Given the description of an element on the screen output the (x, y) to click on. 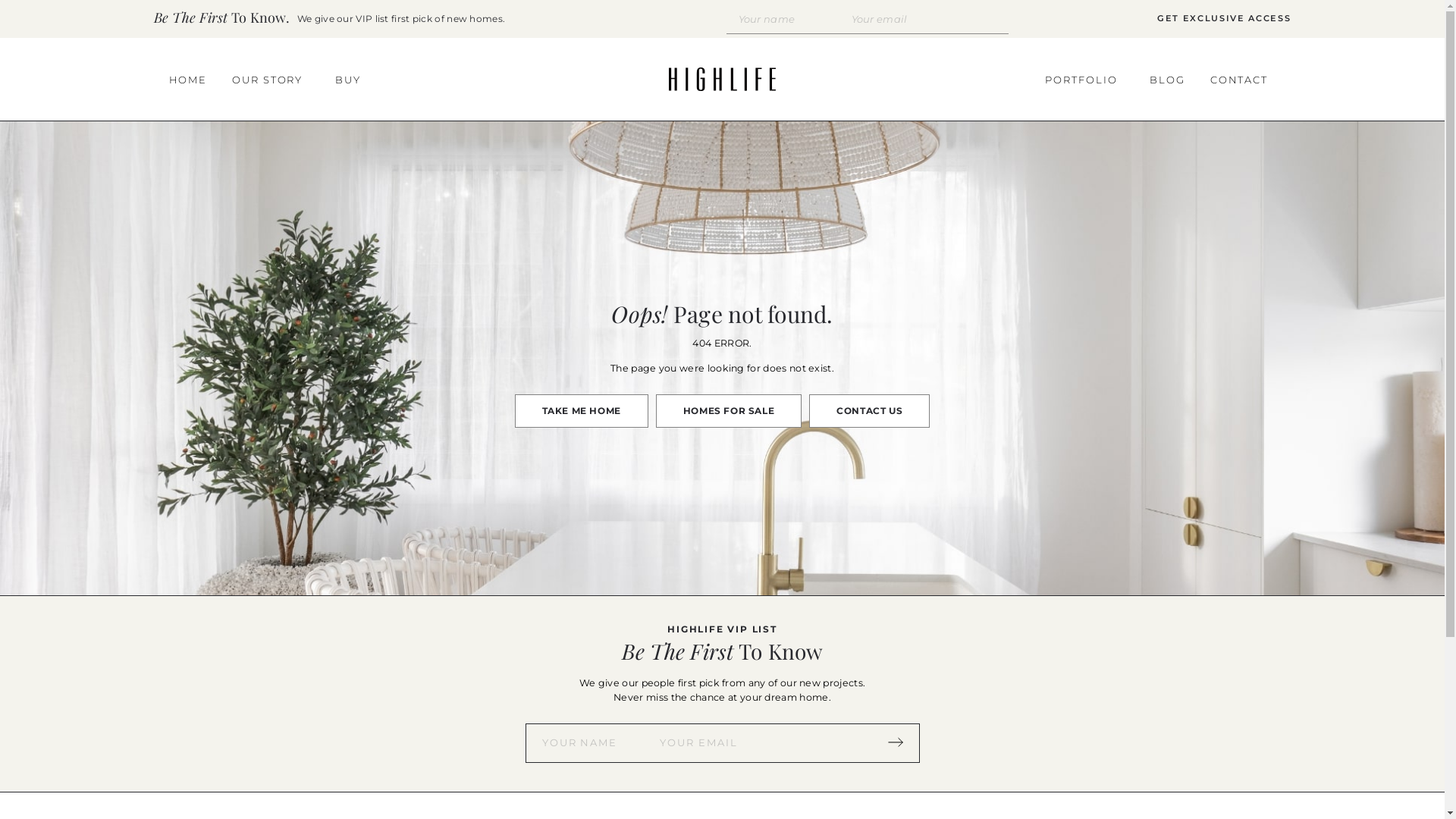
HOME Element type: text (187, 79)
GET EXCLUSIVE ACCESS Element type: text (1224, 18)
TAKE ME HOME Element type: text (581, 410)
PORTFOLIO Element type: text (1084, 79)
HOMES FOR SALE Element type: text (728, 410)
CONTACT US Element type: text (869, 410)
OUR STORY Element type: text (271, 79)
BUY Element type: text (347, 79)
CONTACT Element type: text (1243, 79)
BLOG Element type: text (1167, 79)
